Given the description of an element on the screen output the (x, y) to click on. 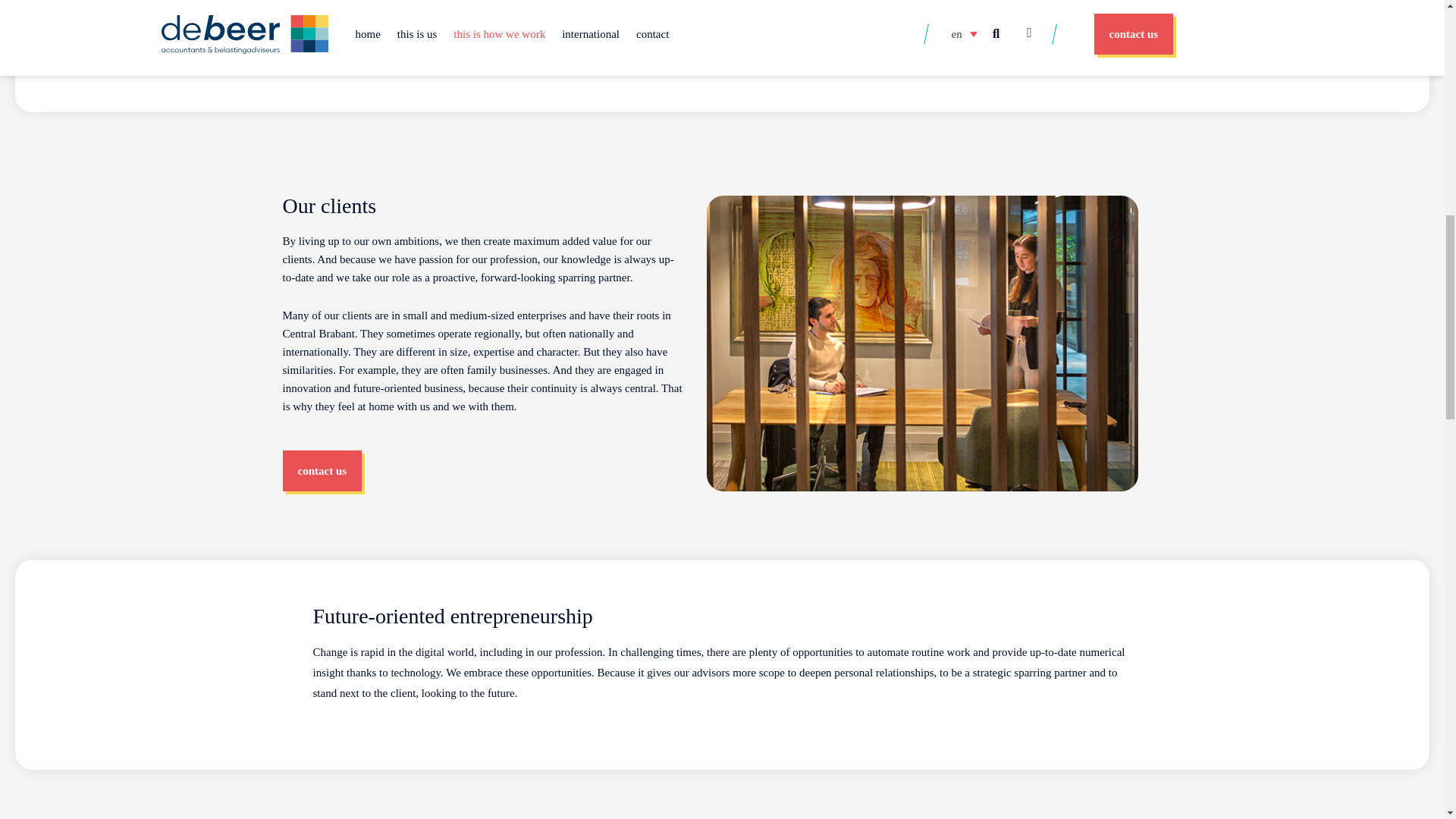
contact us (321, 470)
